Given the description of an element on the screen output the (x, y) to click on. 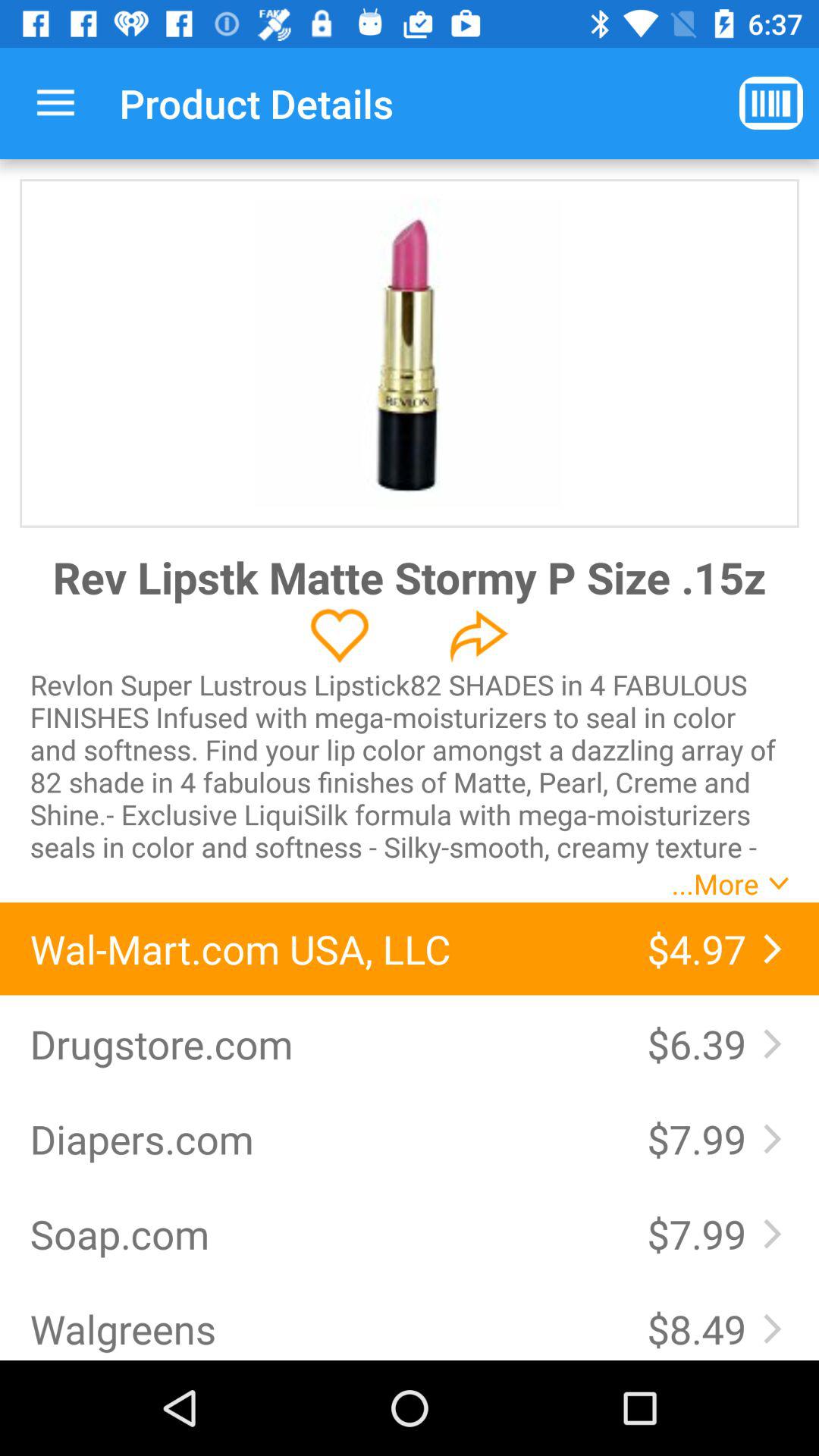
click the ...more item (714, 883)
